Given the description of an element on the screen output the (x, y) to click on. 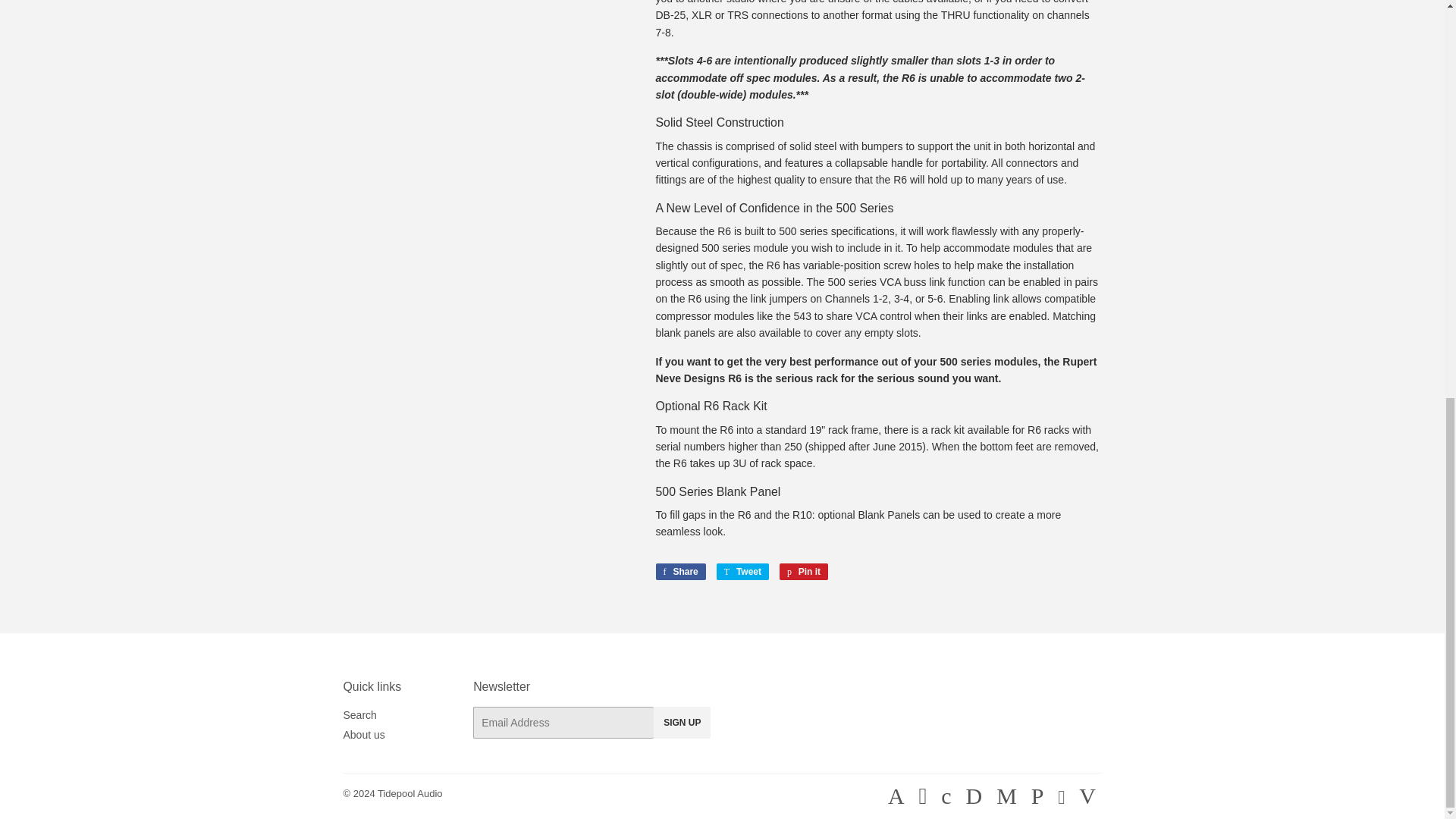
Pin on Pinterest (803, 571)
Tweet on Twitter (742, 571)
Share on Facebook (679, 571)
